Given the description of an element on the screen output the (x, y) to click on. 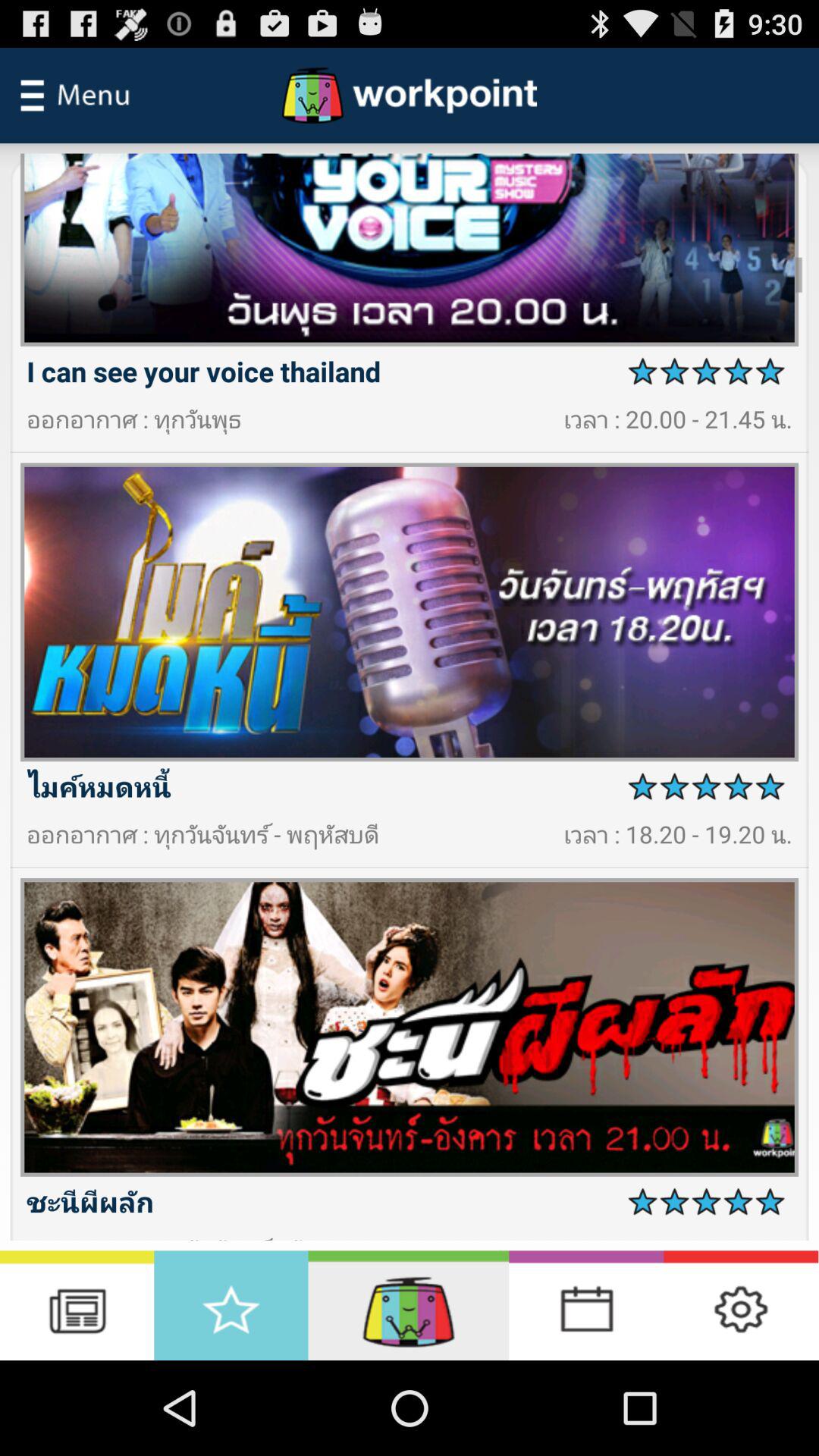
callender (586, 1305)
